Given the description of an element on the screen output the (x, y) to click on. 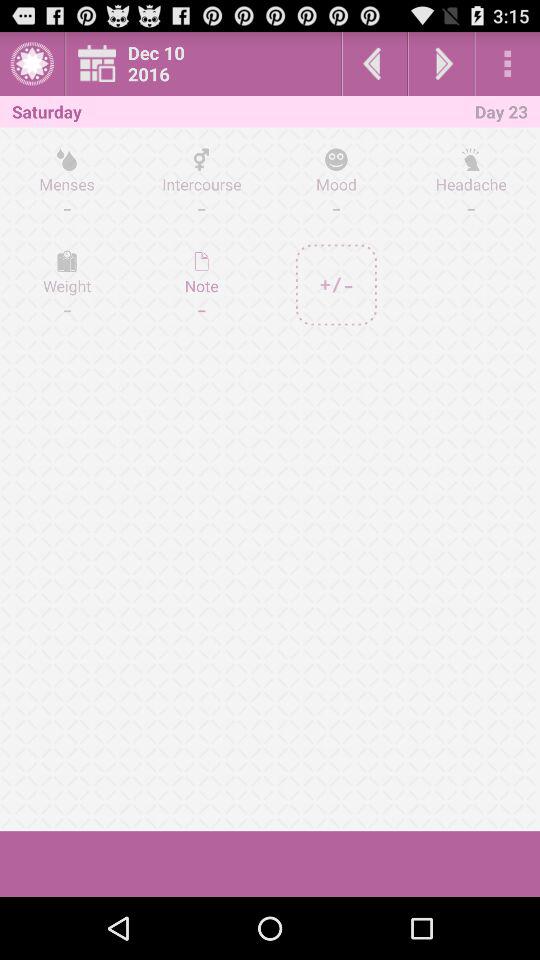
choose item below mood
_ item (335, 284)
